Given the description of an element on the screen output the (x, y) to click on. 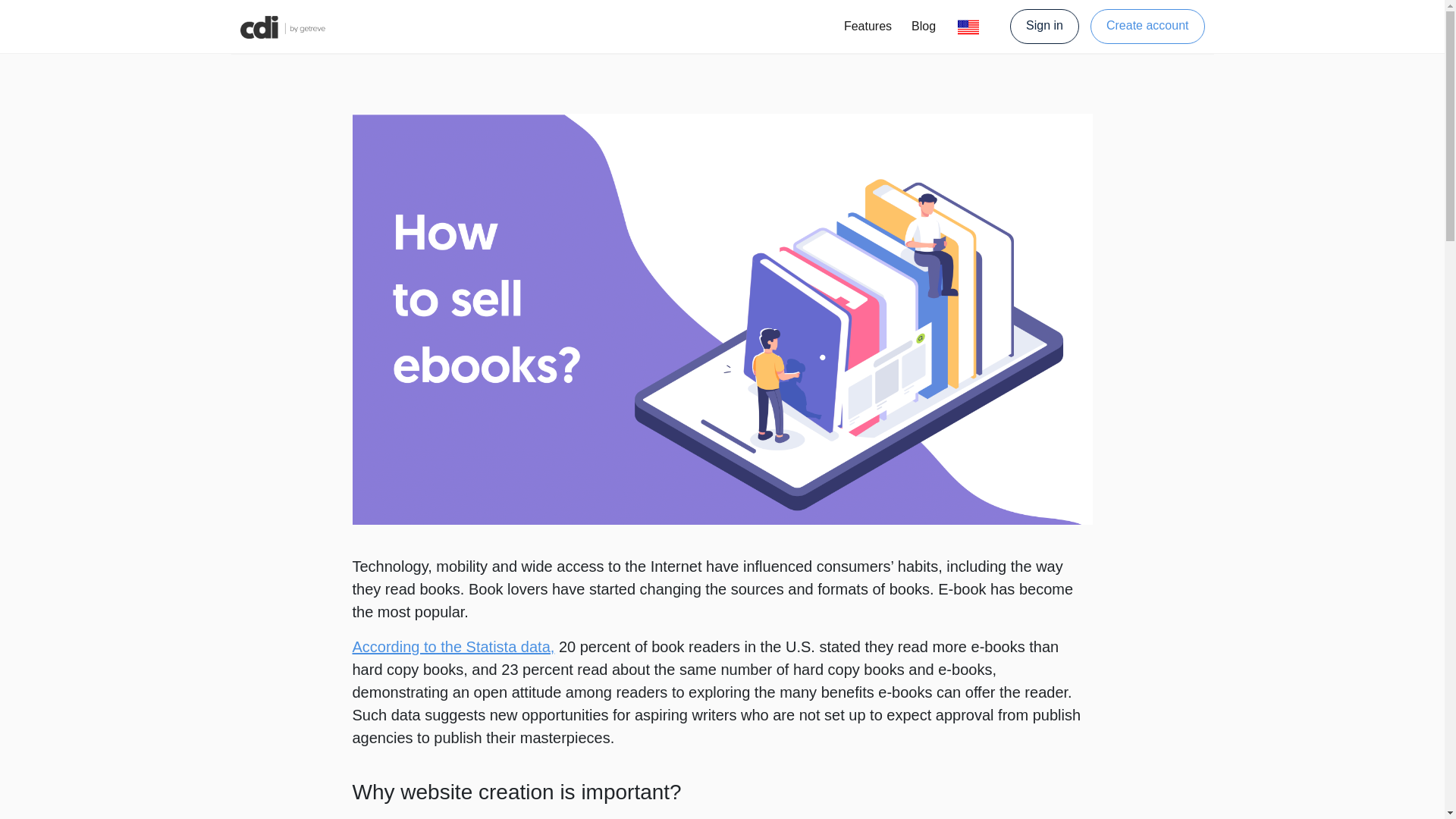
According to the Statista data, (453, 646)
Features (868, 26)
Sign in (1044, 26)
Blog (923, 26)
Create account (1147, 26)
Sign in (1050, 26)
